Given the description of an element on the screen output the (x, y) to click on. 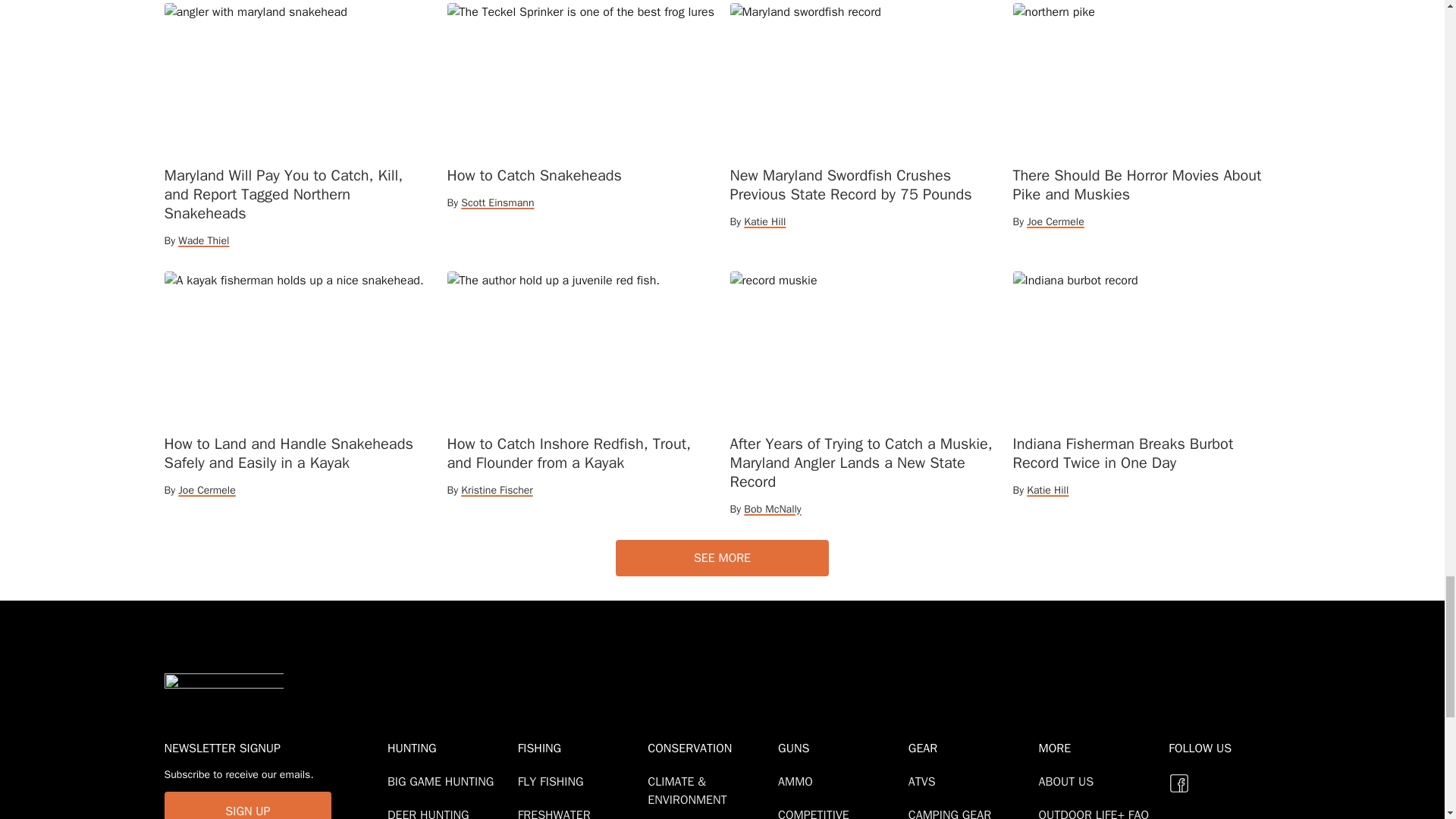
Hunting (449, 748)
Fishing (580, 748)
Deer Hunting (431, 813)
Big Game Hunting (443, 781)
Conservation (709, 748)
Fly Fishing (553, 781)
